Given the description of an element on the screen output the (x, y) to click on. 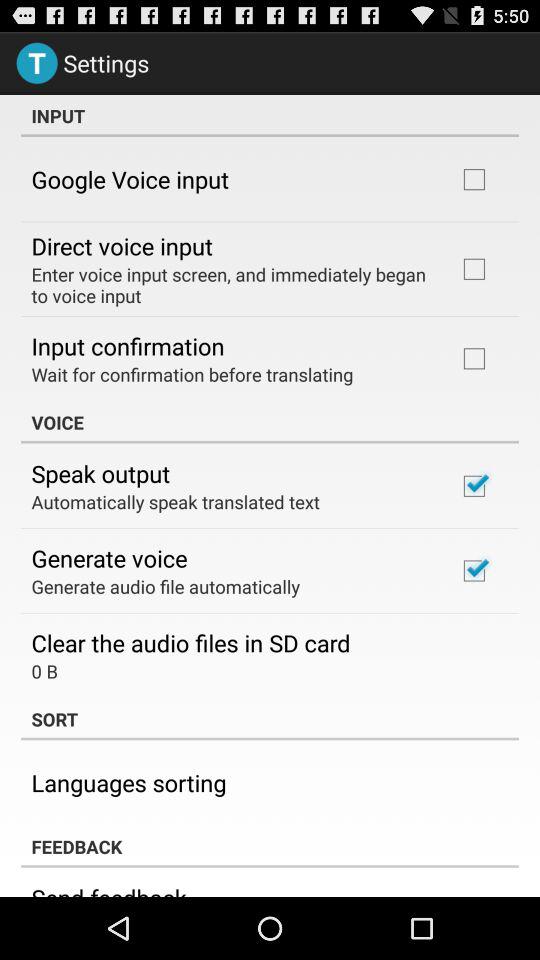
tap the generate voice item (109, 558)
